Given the description of an element on the screen output the (x, y) to click on. 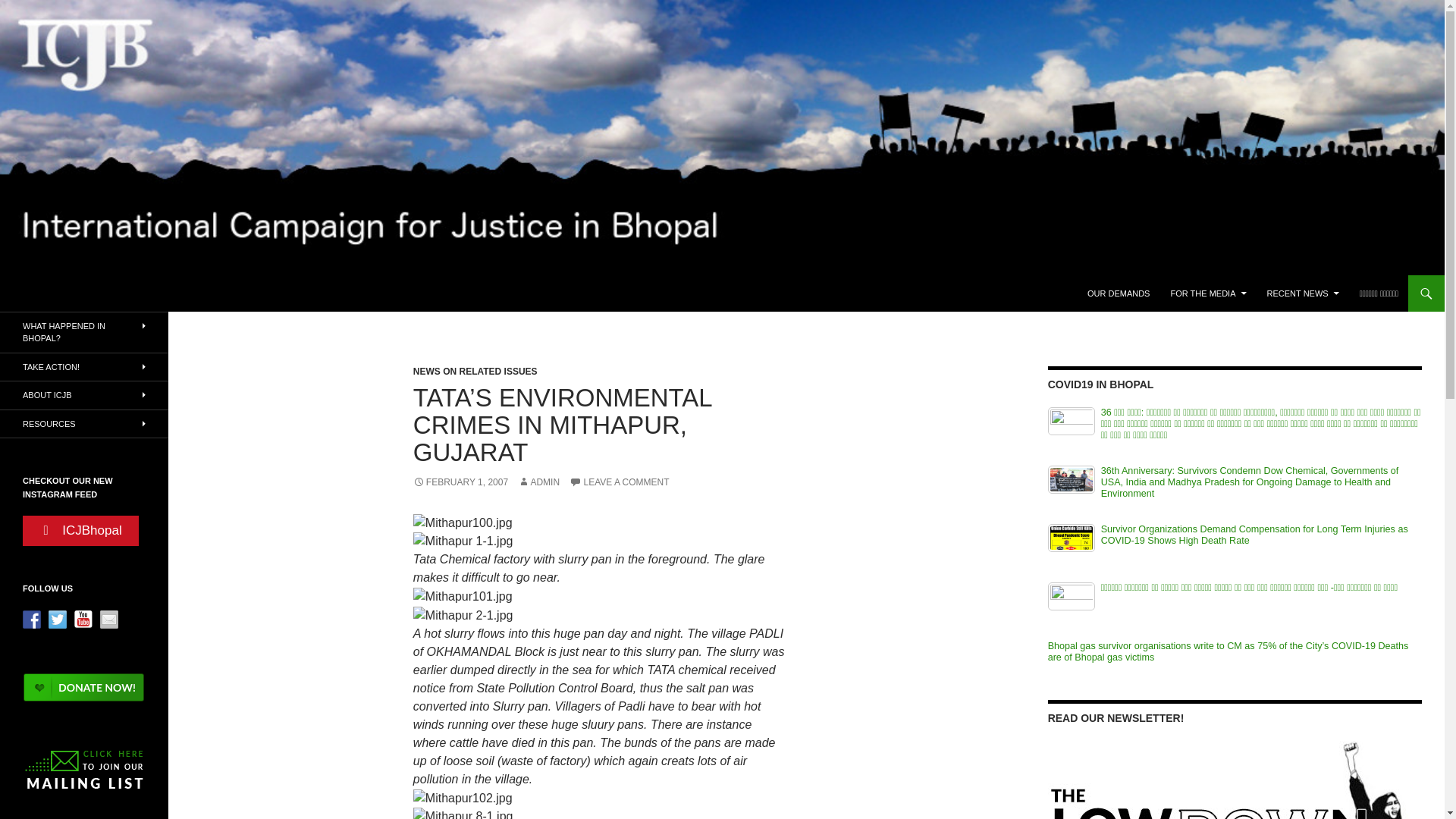
OUR DEMANDS (1118, 293)
LEAVE A COMMENT (618, 481)
RECENT NEWS (1302, 293)
Like us on facebook (31, 619)
Follow us on Twitter (57, 619)
FOR THE MEDIA (1208, 293)
NEWS ON RELATED ISSUES (475, 371)
FEBRUARY 1, 2007 (460, 481)
ADMIN (538, 481)
International Campaign for Justice in Bhopal (168, 293)
